Given the description of an element on the screen output the (x, y) to click on. 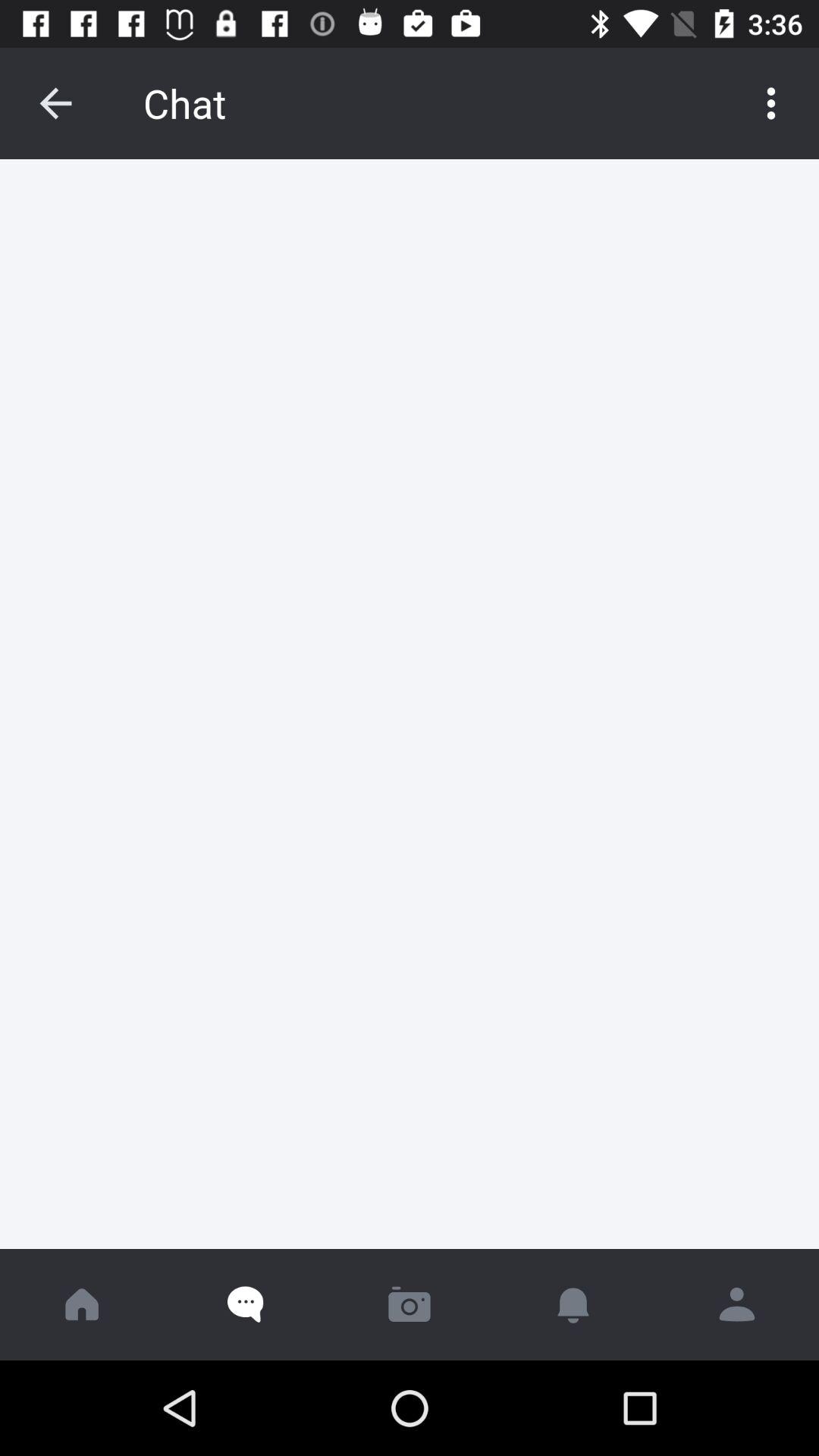
choose icon next to chat icon (771, 103)
